Given the description of an element on the screen output the (x, y) to click on. 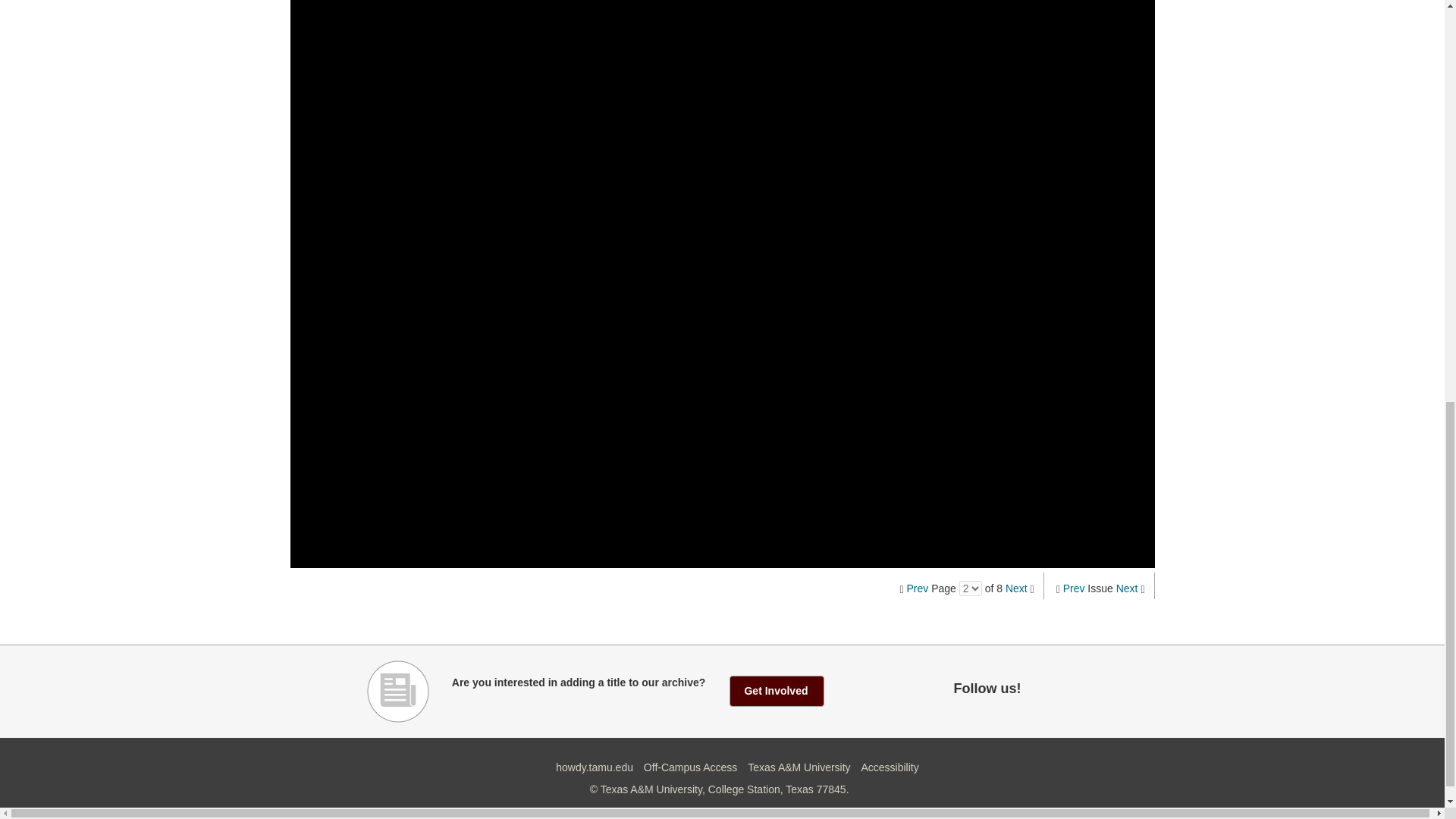
Prev (917, 588)
Get Involved (776, 690)
Next (1016, 588)
Accessibility (889, 767)
Prev (1073, 588)
howdy.tamu.edu (594, 767)
Next (1127, 588)
Off-Campus Access (689, 767)
